Given the description of an element on the screen output the (x, y) to click on. 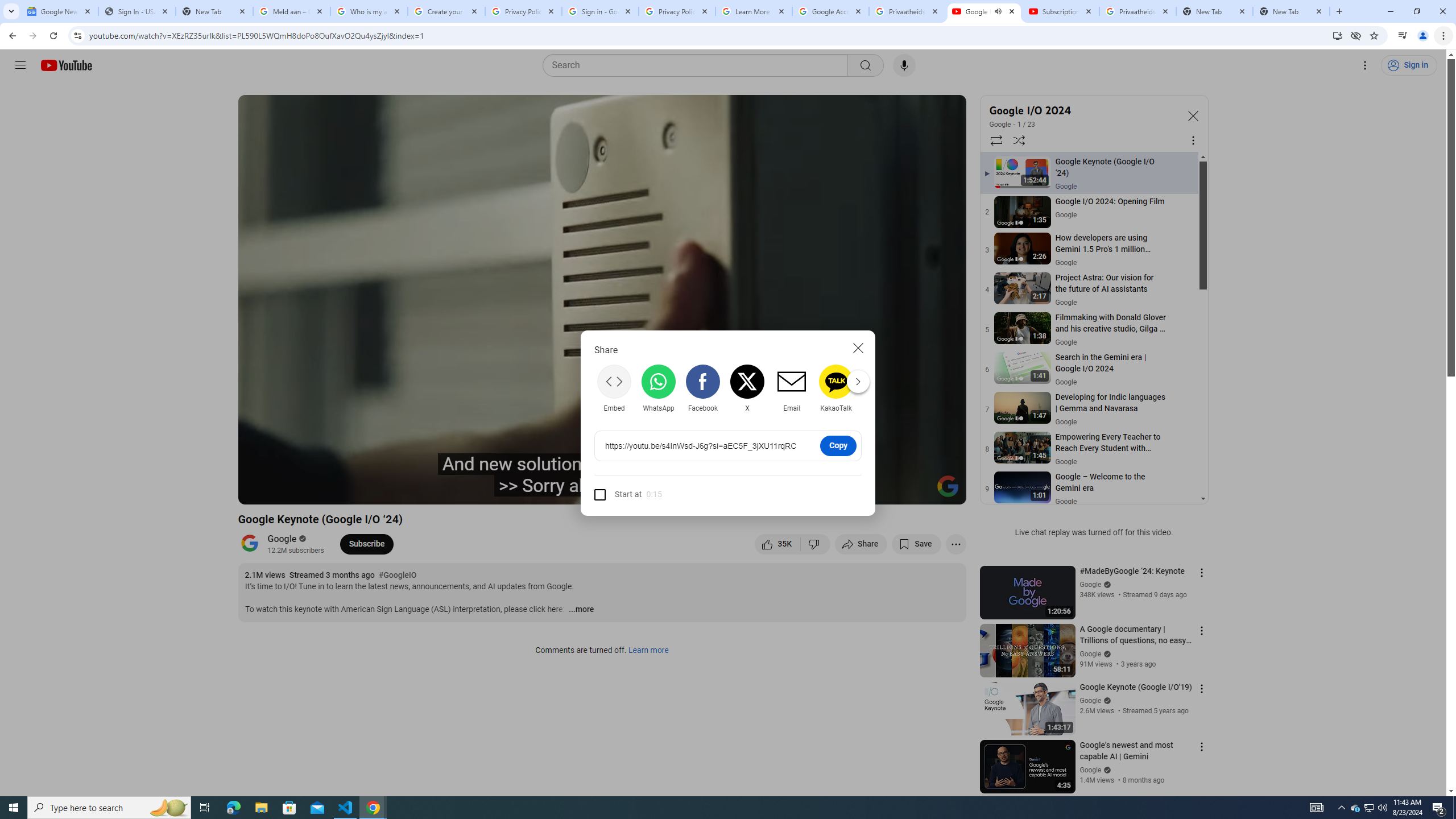
Next (SHIFT+n) (310, 490)
Full screen (f) (945, 490)
New Tab (1291, 11)
YouTube Home (66, 65)
Email (790, 387)
Sign in - Google Accounts (599, 11)
#GoogleIO (397, 575)
Previous (SHIFT+p) (259, 490)
Google I/O 2024 (1082, 109)
